Given the description of an element on the screen output the (x, y) to click on. 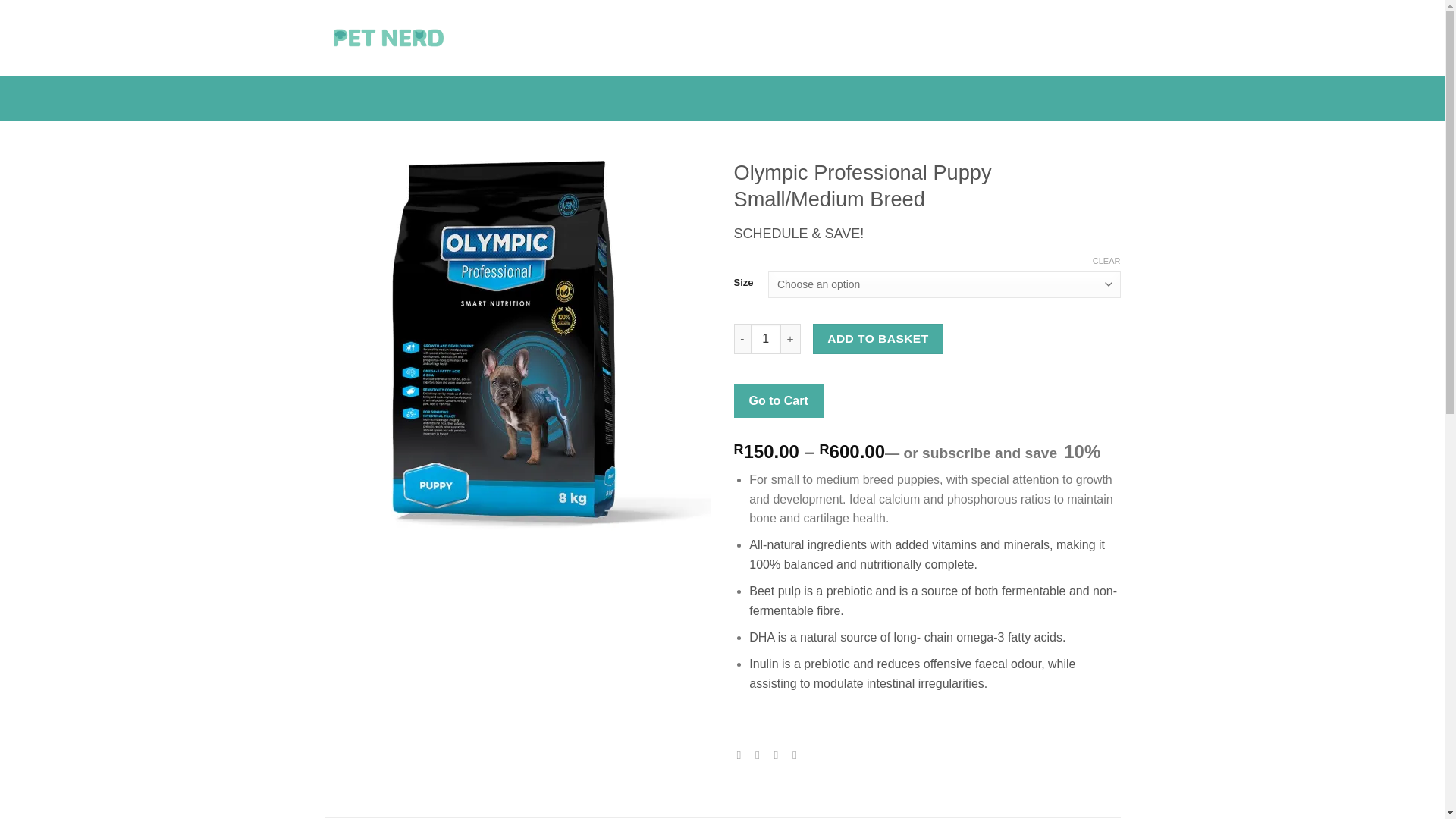
DEALS (794, 37)
Page 2 (927, 581)
Basket (1067, 37)
CAT (556, 37)
LOGIN (974, 37)
Pet Nerd - Your Pet's Best Bet! (388, 37)
CONTACT (738, 37)
DOG (515, 37)
Login (974, 37)
SHOP DOG BRANDS (640, 37)
